Given the description of an element on the screen output the (x, y) to click on. 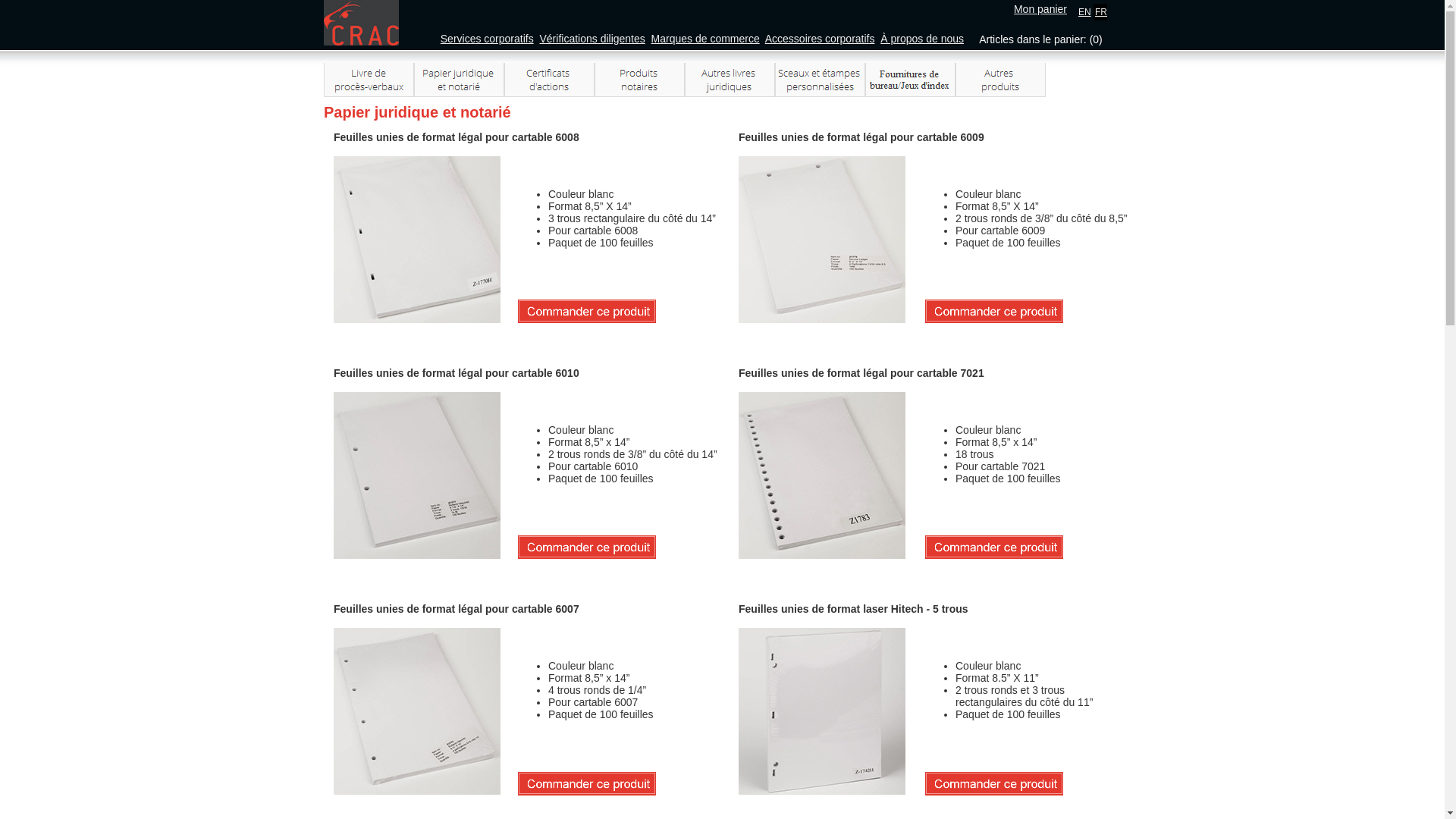
FR Element type: text (1101, 11)
Commander ce produit Element type: hover (994, 311)
Commander ce produit Element type: hover (994, 546)
Fournitures de 
bureau/Jeux d'index  Element type: hover (910, 79)
Autres livres 
juridiques Element type: hover (729, 79)
Commander ce produit Element type: hover (586, 783)
Autres 
produits Element type: hover (1000, 79)
Certificats 
d'actions Element type: hover (549, 79)
Commander ce produit Element type: hover (994, 783)
Produits 
notaires Element type: hover (639, 79)
Z1773-alt-220 Element type: hover (416, 710)
Services corporatifs Element type: text (486, 38)
Accessoires corporatifs Element type: text (820, 38)
Mon panier Element type: text (1039, 9)
Commander ce produit Element type: hover (586, 546)
Marques de commerce Element type: text (705, 38)
Commander ce produit Element type: hover (586, 311)
Z1742H-alt-220 Element type: hover (821, 710)
CRAC_logo-60 Element type: hover (360, 22)
EN Element type: text (1084, 11)
